Given the description of an element on the screen output the (x, y) to click on. 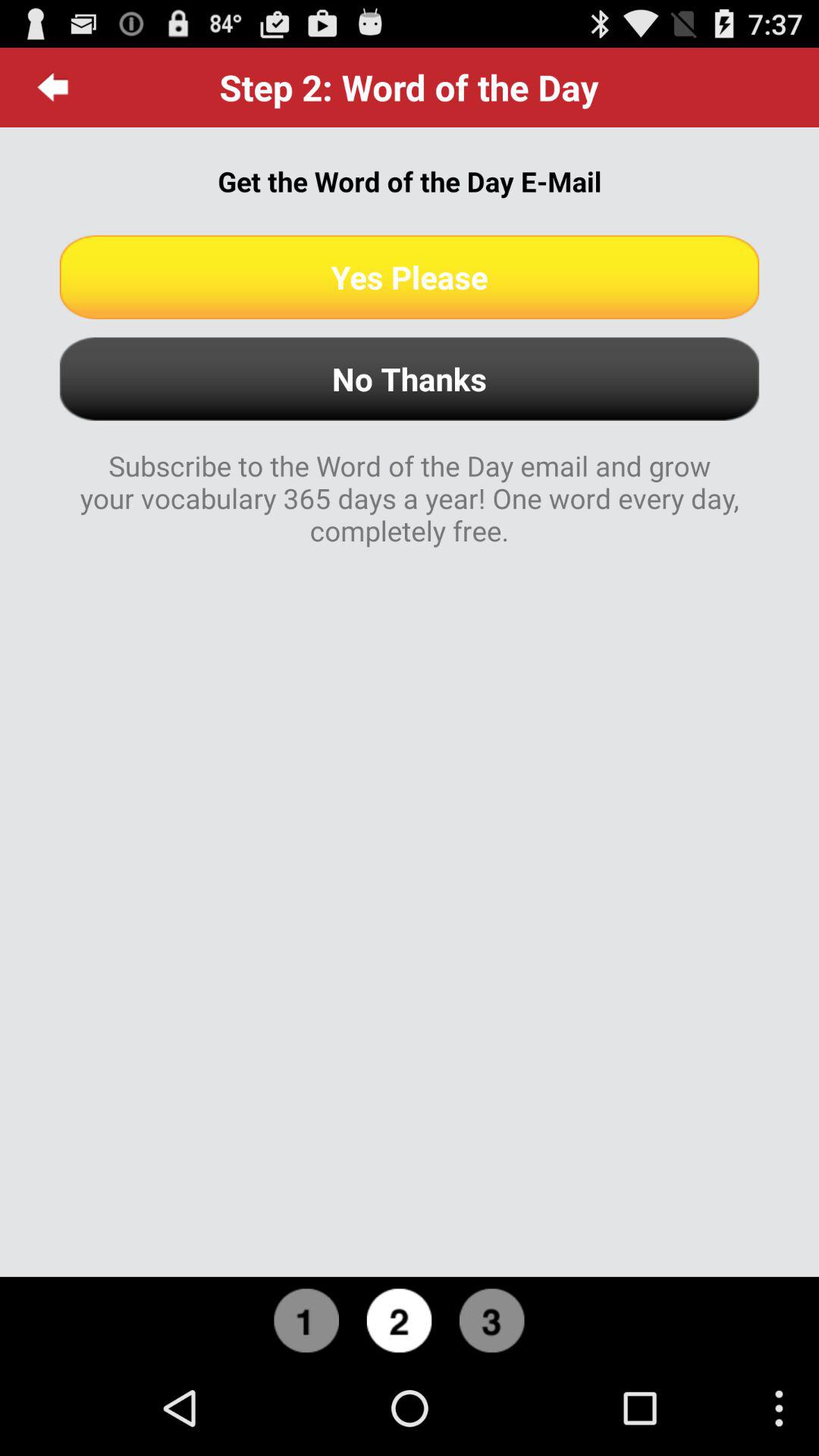
click the item below yes please (409, 378)
